Given the description of an element on the screen output the (x, y) to click on. 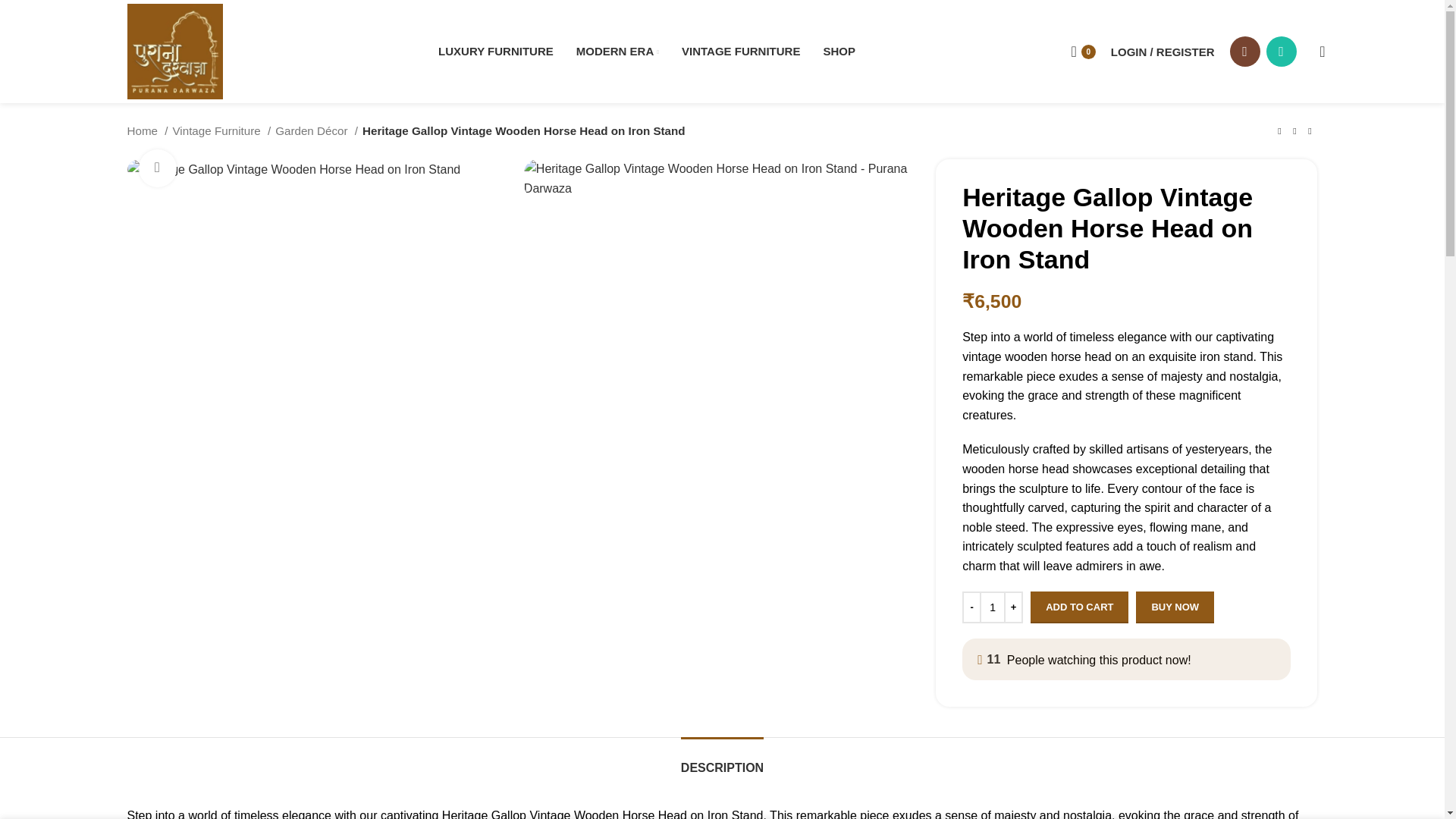
MODERN ERA (617, 51)
Shopping cart (1082, 51)
My account (1163, 51)
Heritage Gallop Vintage Wooden Horse Head on Iron Stand (294, 169)
Log in (1088, 300)
Home (148, 131)
0 (1082, 51)
VINTAGE FURNITURE (740, 51)
Vintage Furniture (220, 131)
LUXURY FURNITURE (495, 51)
